Given the description of an element on the screen output the (x, y) to click on. 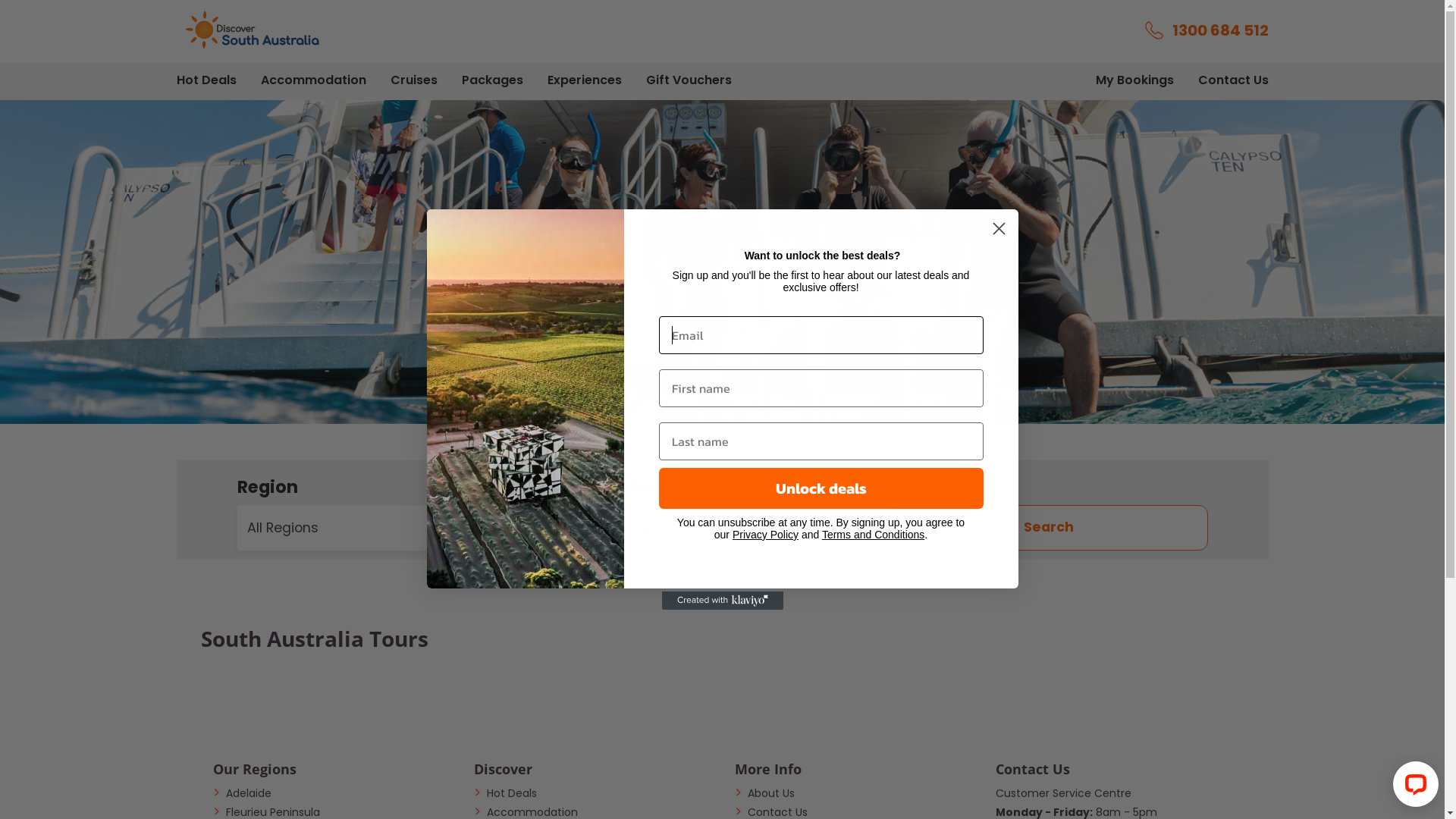
Gift Vouchers Element type: text (688, 79)
1300 684 512 Element type: text (1206, 30)
Experiences Element type: text (584, 79)
Terms and Conditions Element type: text (873, 534)
Close dialog 1 Element type: text (998, 228)
Contact Us Element type: text (1233, 79)
Adelaide Element type: text (241, 792)
Privacy Policy Element type: text (765, 534)
Submit Element type: text (26, 8)
Hot Deals Element type: text (205, 79)
Hot Deals Element type: text (504, 792)
My Bookings Element type: text (1134, 79)
Search Element type: text (1047, 527)
Packages Element type: text (491, 79)
Accommodation Element type: text (313, 79)
Unlock deals Element type: text (820, 487)
Cruises Element type: text (412, 79)
About Us Element type: text (763, 792)
